Given the description of an element on the screen output the (x, y) to click on. 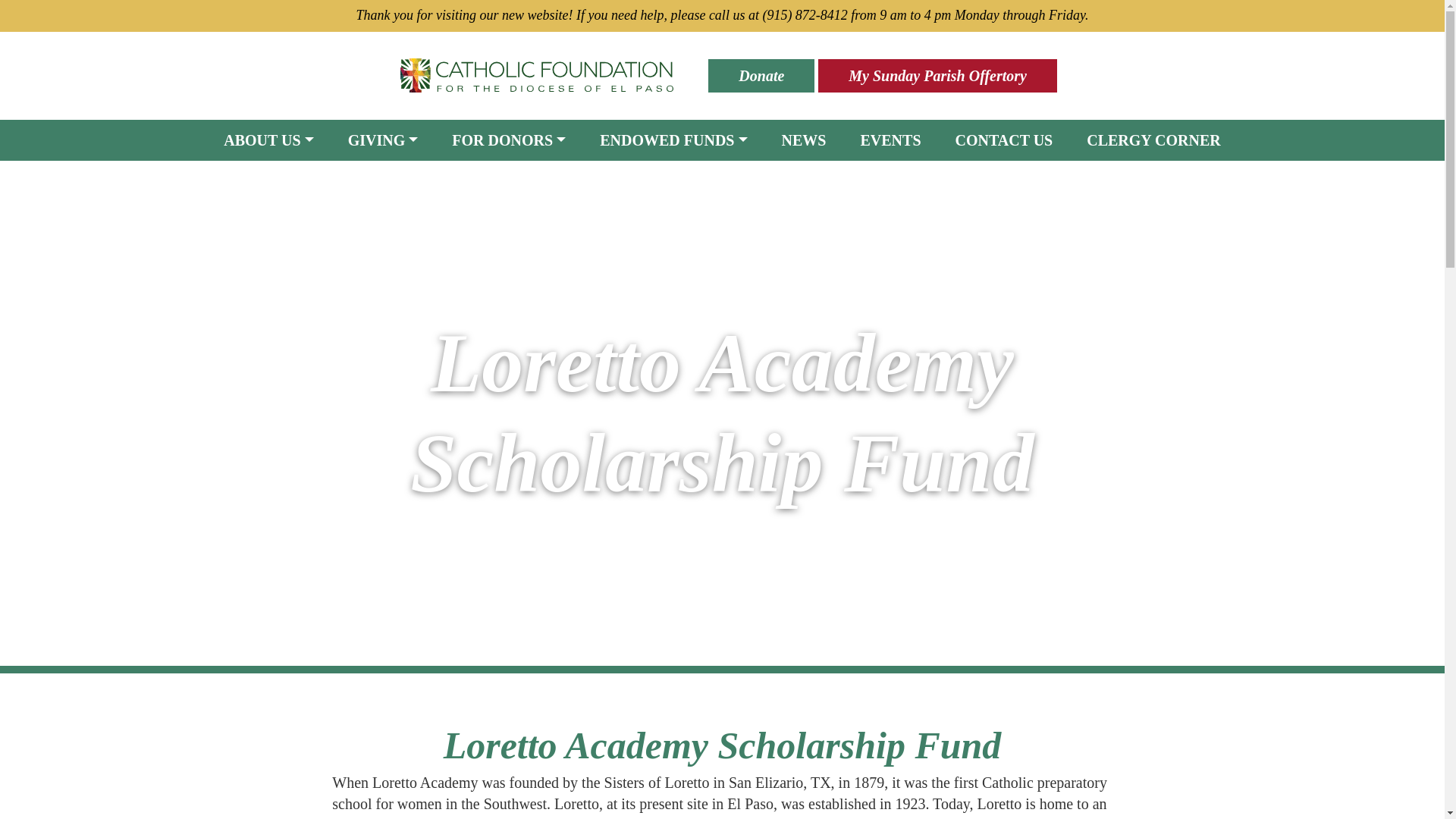
ABOUT US (268, 139)
GIVING (383, 139)
Donate (760, 75)
My Sunday Parish Offertory (937, 75)
